Given the description of an element on the screen output the (x, y) to click on. 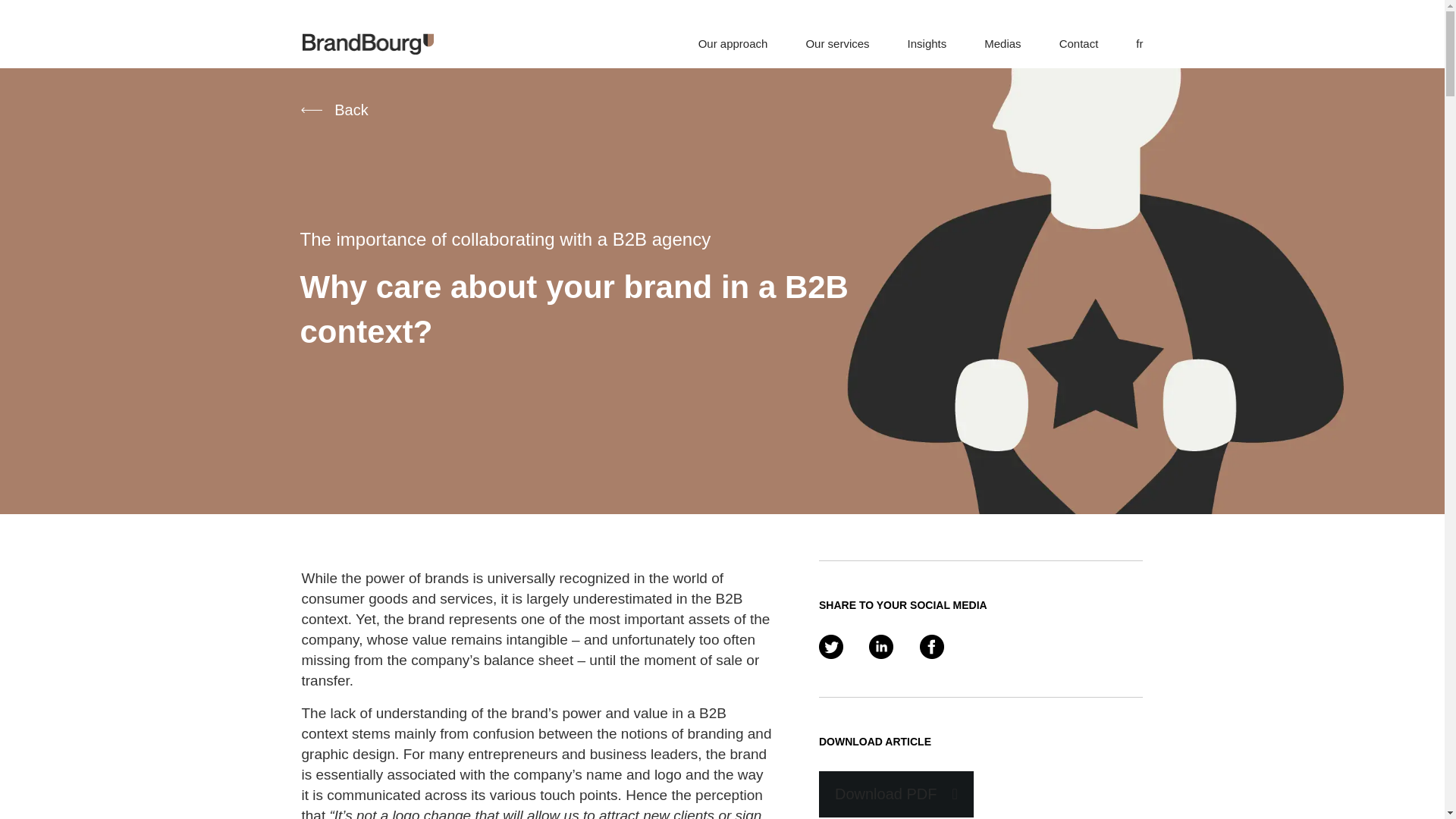
Contact (1079, 42)
Our services (837, 42)
Medias (1002, 42)
Download PDF (896, 794)
Insights (927, 42)
  Back (333, 109)
Our approach (733, 42)
